Given the description of an element on the screen output the (x, y) to click on. 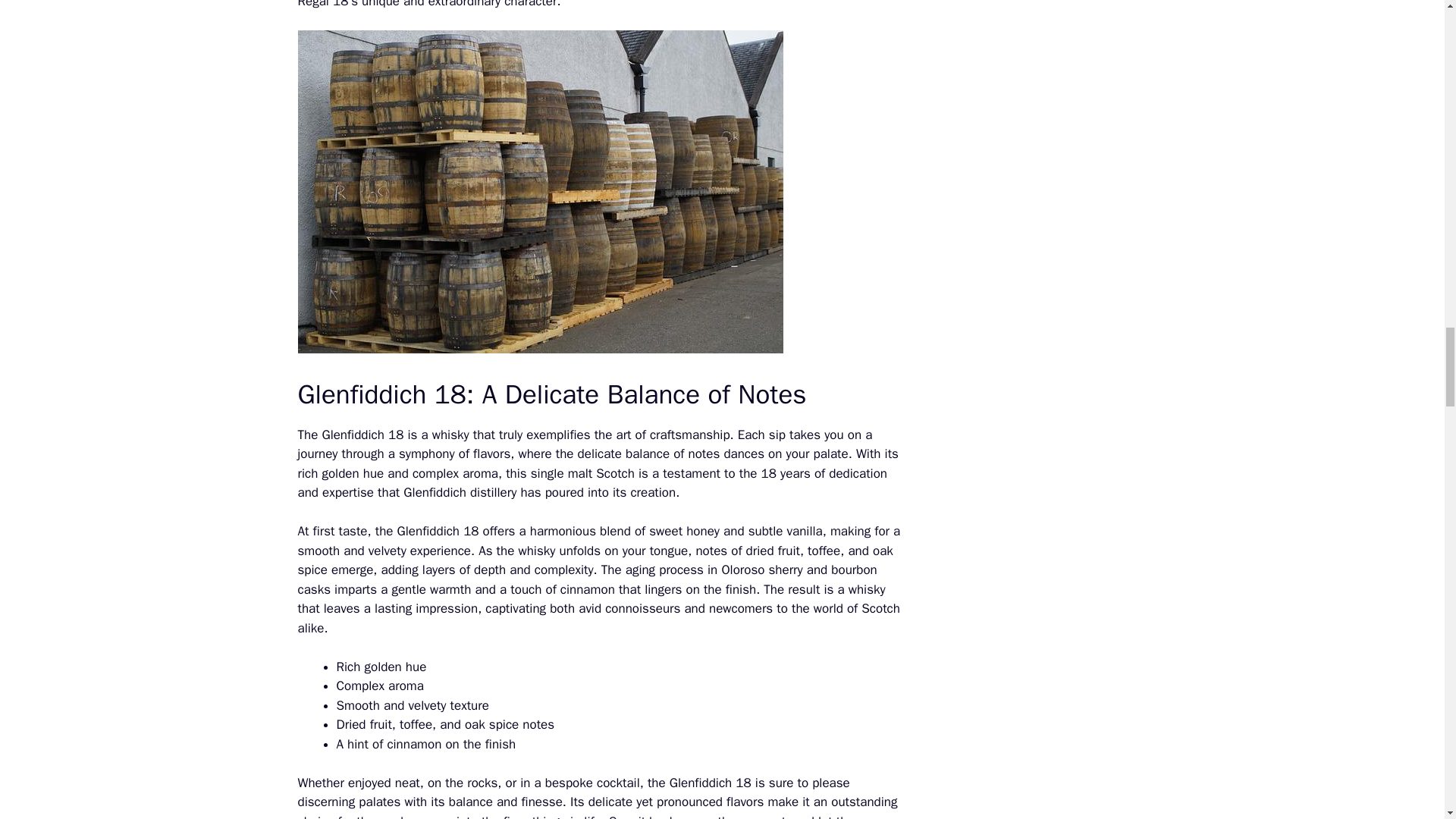
Sip and Soothe: Top 11 Whiskeys for a Toothache (340, 473)
rich golden hue (340, 473)
